Given the description of an element on the screen output the (x, y) to click on. 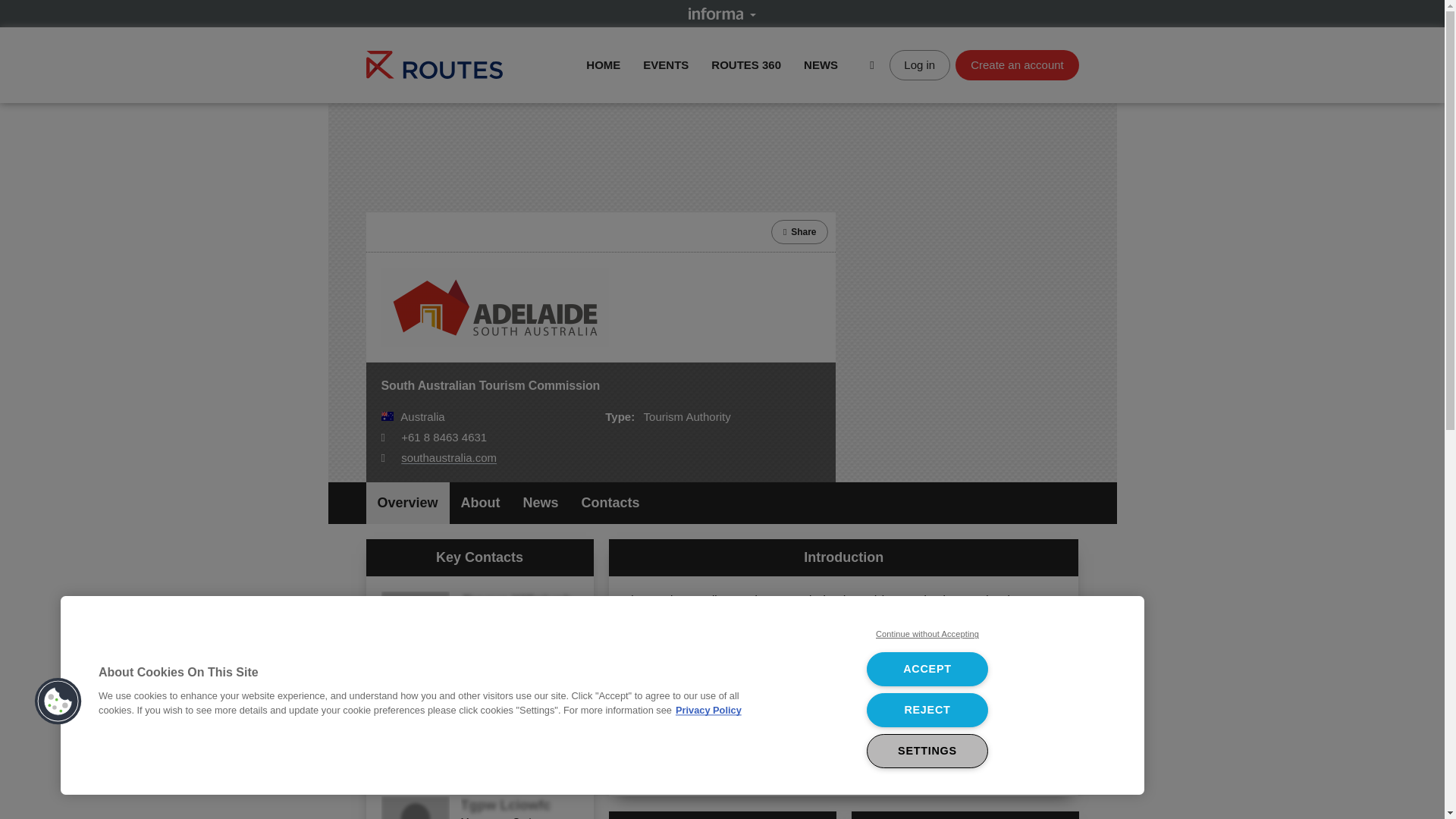
Routes (433, 64)
EVENTS (665, 64)
NEWS (820, 64)
Create an account (1016, 64)
ROUTES 360 (745, 64)
Log in (919, 64)
Cookies Button (57, 701)
HOME (603, 64)
